Given the description of an element on the screen output the (x, y) to click on. 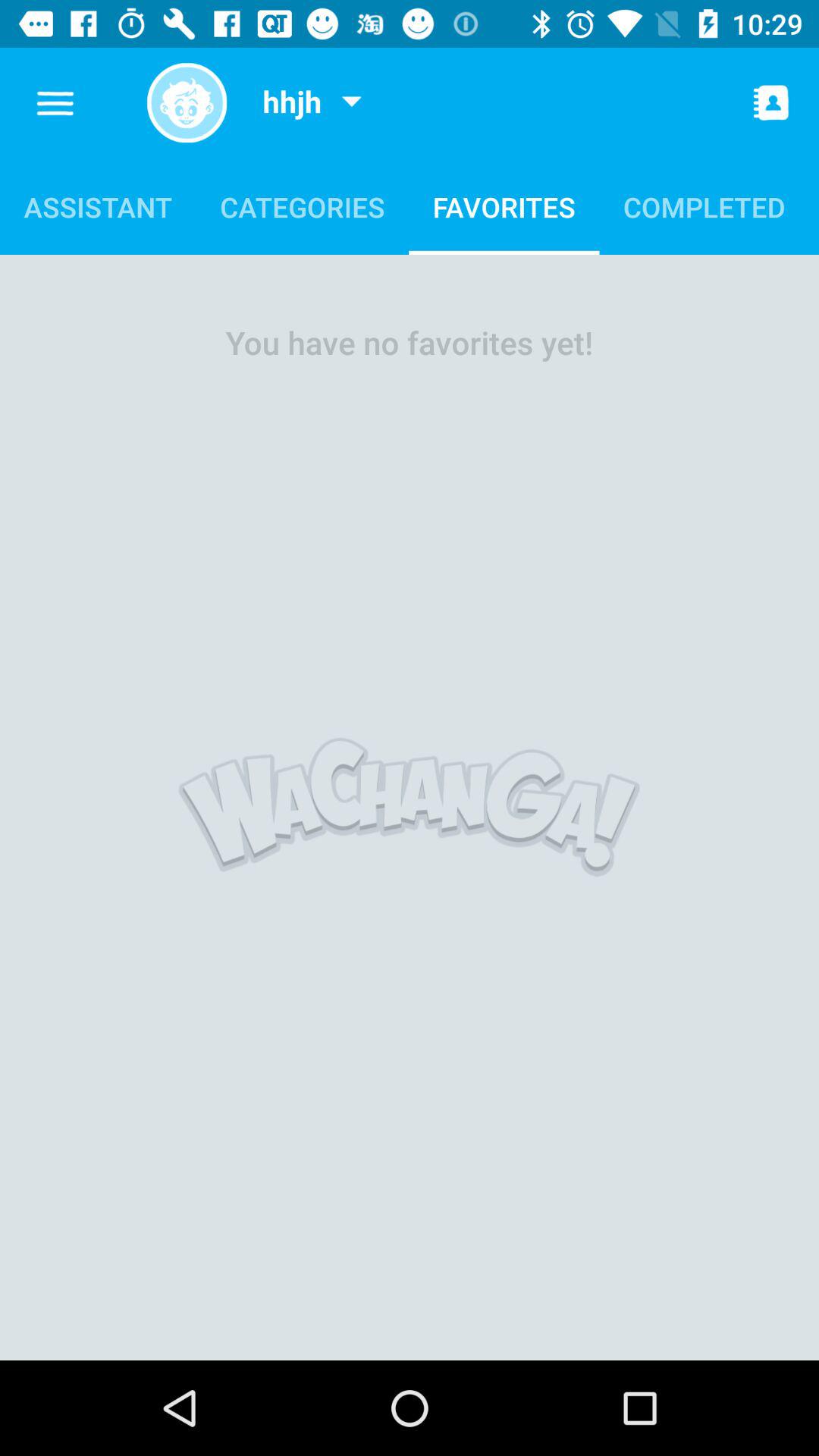
choose icon above assistant icon (56, 103)
